Given the description of an element on the screen output the (x, y) to click on. 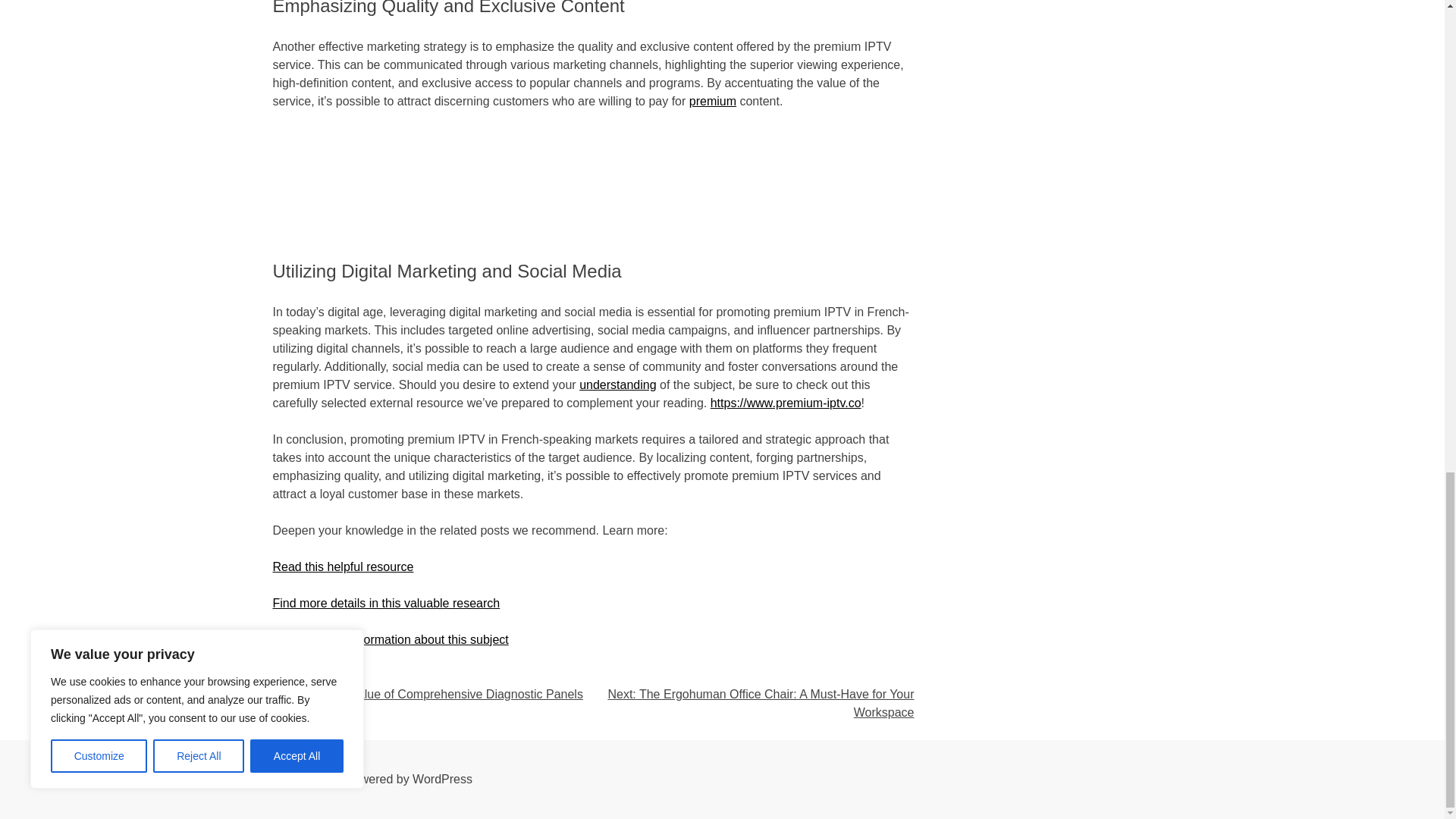
Read this helpful resource (343, 566)
Occasions (332, 675)
Find more details in this valuable research (386, 603)
Click for more information about this subject (390, 639)
premium (712, 101)
understanding (617, 384)
